Given the description of an element on the screen output the (x, y) to click on. 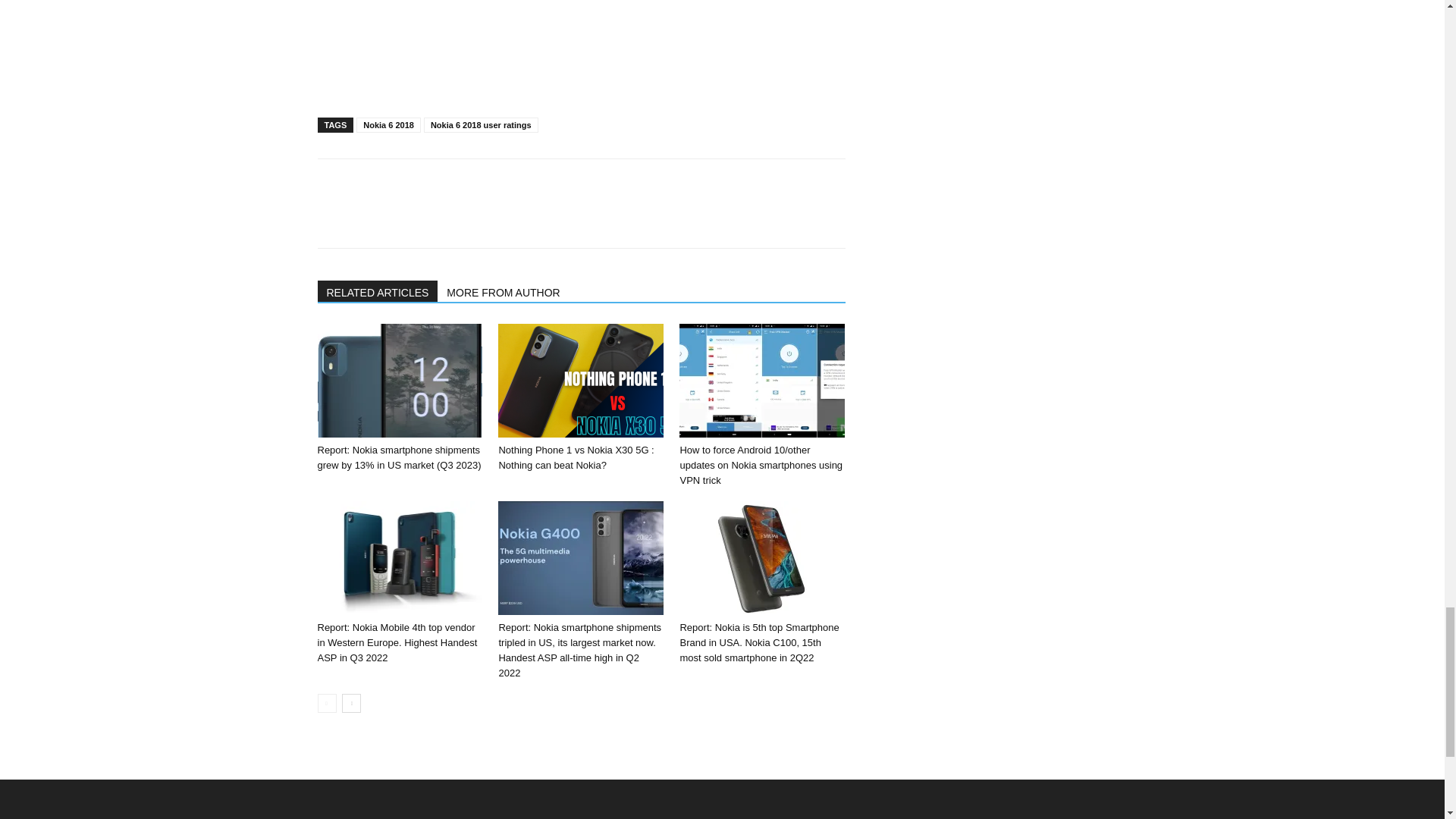
bottomFacebookLike (430, 182)
